Given the description of an element on the screen output the (x, y) to click on. 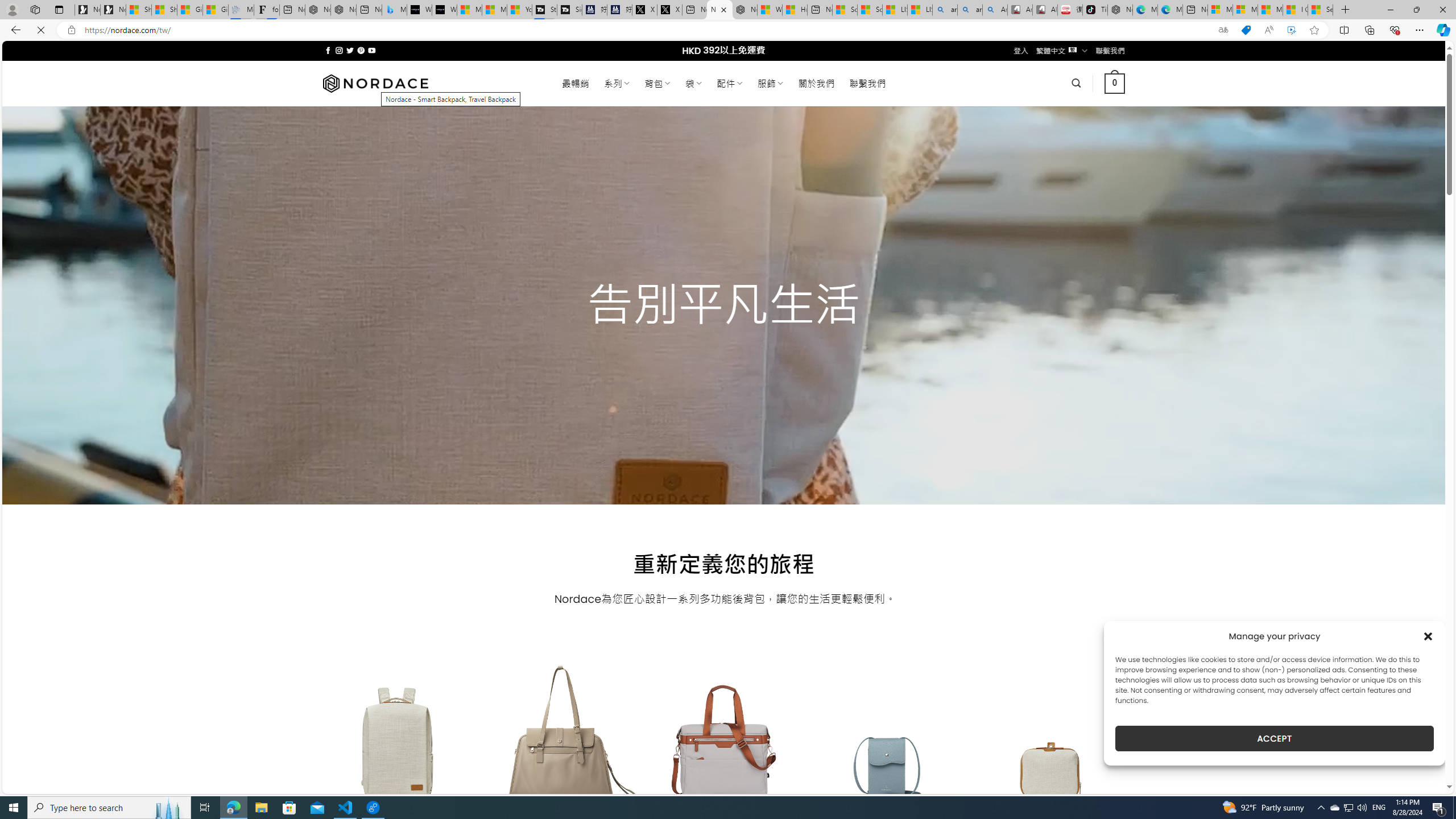
Microsoft Bing Travel - Shangri-La Hotel Bangkok (394, 9)
Microsoft account | Privacy (1244, 9)
Newsletter Sign Up (113, 9)
Enhance video (1291, 29)
Nordace - Best Sellers (1119, 9)
